Given the description of an element on the screen output the (x, y) to click on. 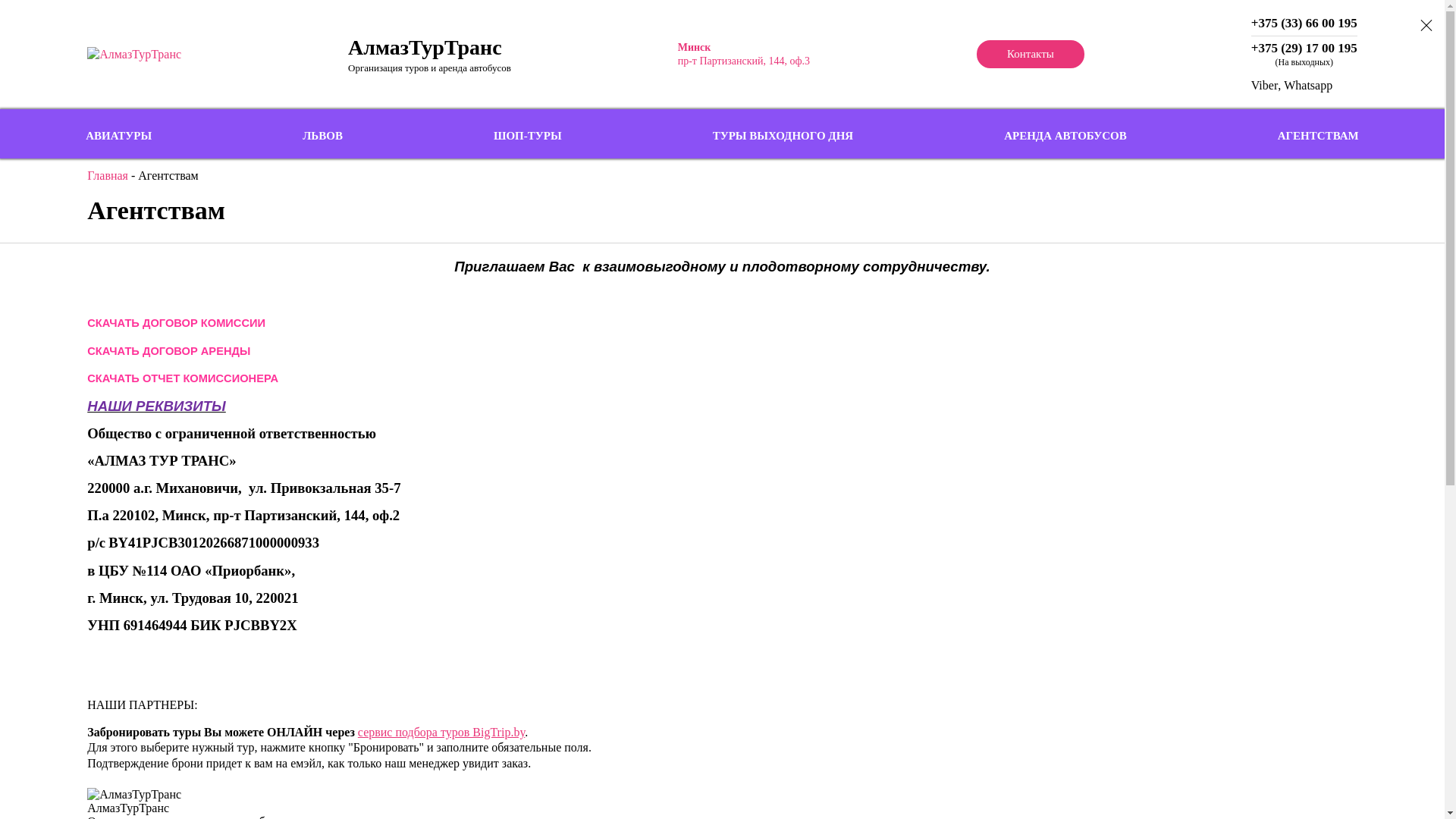
+375 (29) 17 00 195 Element type: text (1304, 48)
+375 (33) 66 00 195 Element type: text (1304, 23)
Whatsapp Element type: text (1307, 84)
Viber Element type: text (1264, 84)
